Given the description of an element on the screen output the (x, y) to click on. 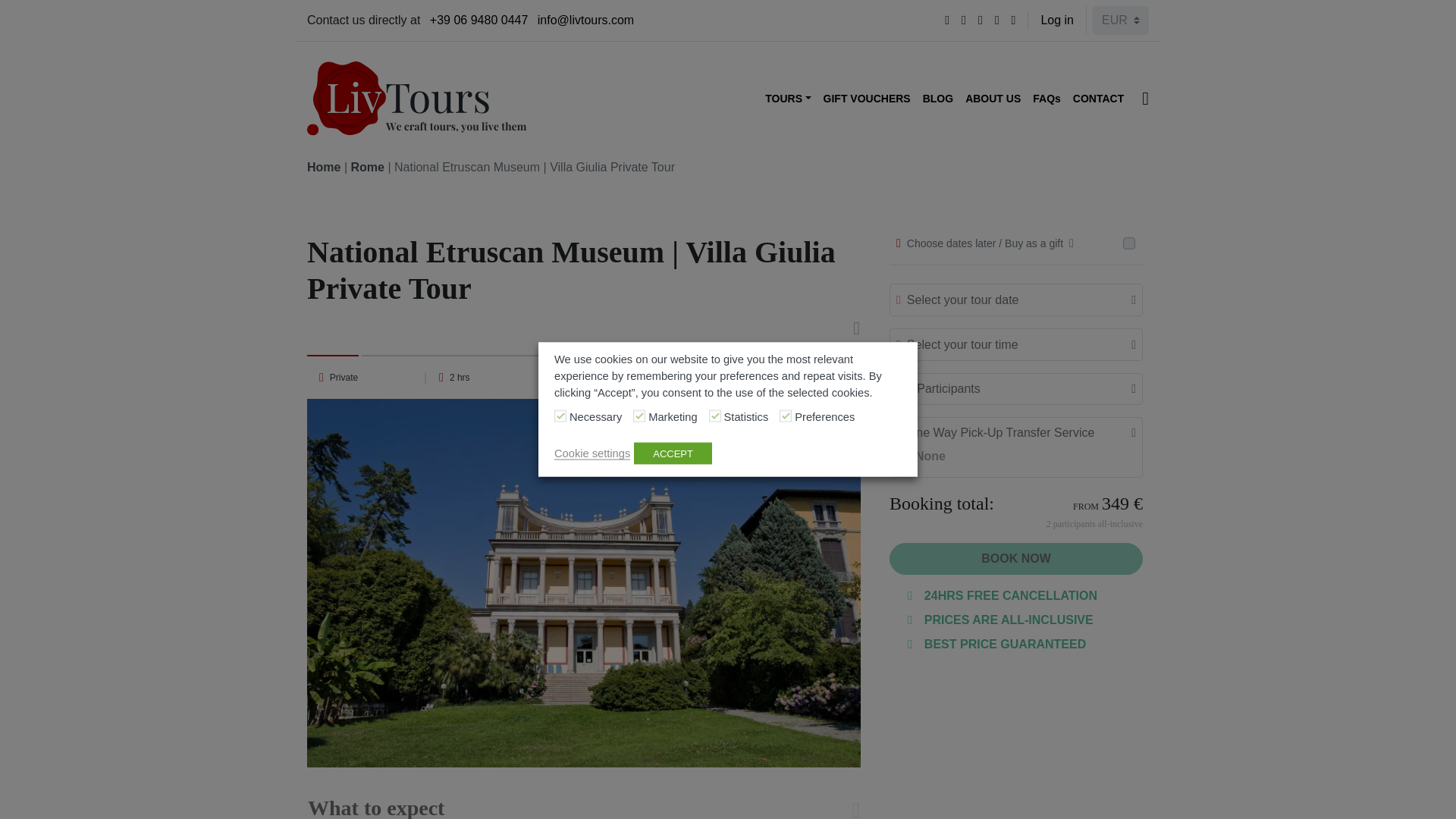
on (639, 416)
on (785, 416)
on (714, 416)
on (560, 416)
Log in (1056, 20)
LivTours (417, 98)
TOURS (787, 99)
TOURS (787, 99)
Log in (1056, 20)
